Given the description of an element on the screen output the (x, y) to click on. 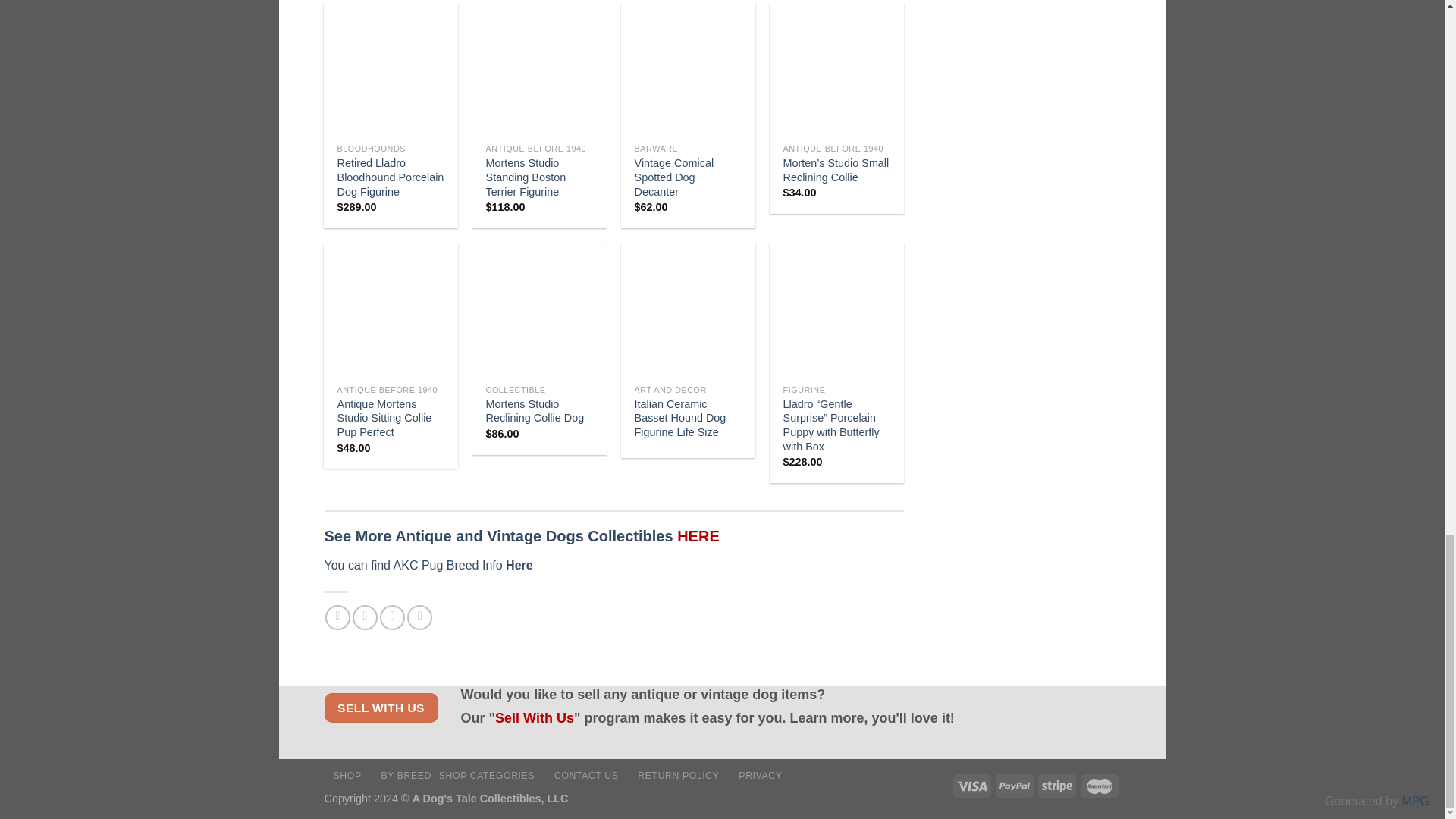
Send us an email (419, 617)
Follow on Twitter (392, 617)
Follow on Facebook (337, 617)
Follow on Instagram (364, 617)
